Given the description of an element on the screen output the (x, y) to click on. 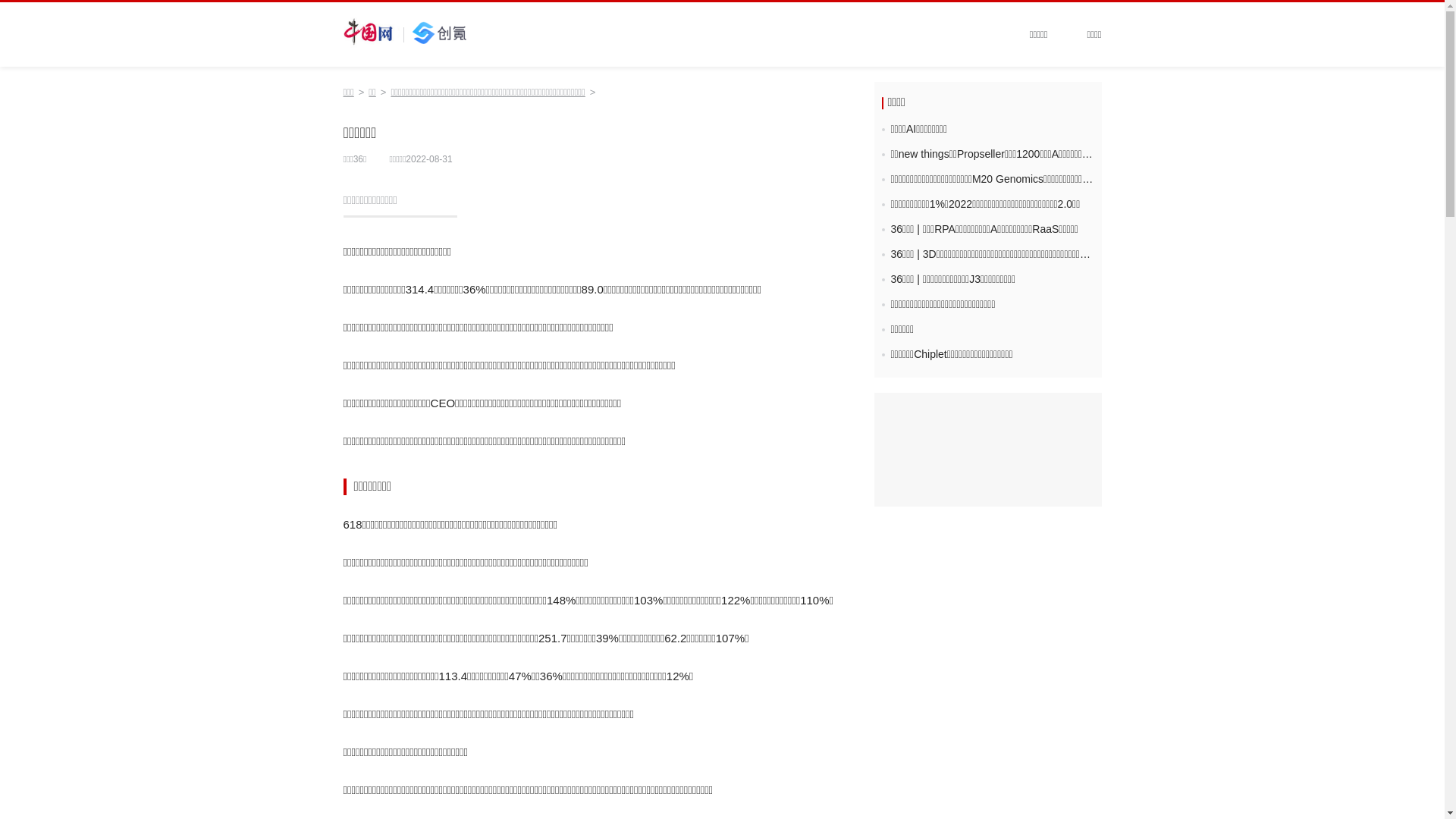
> Element type: text (592, 91)
> Element type: text (361, 91)
> Element type: text (383, 91)
